Given the description of an element on the screen output the (x, y) to click on. 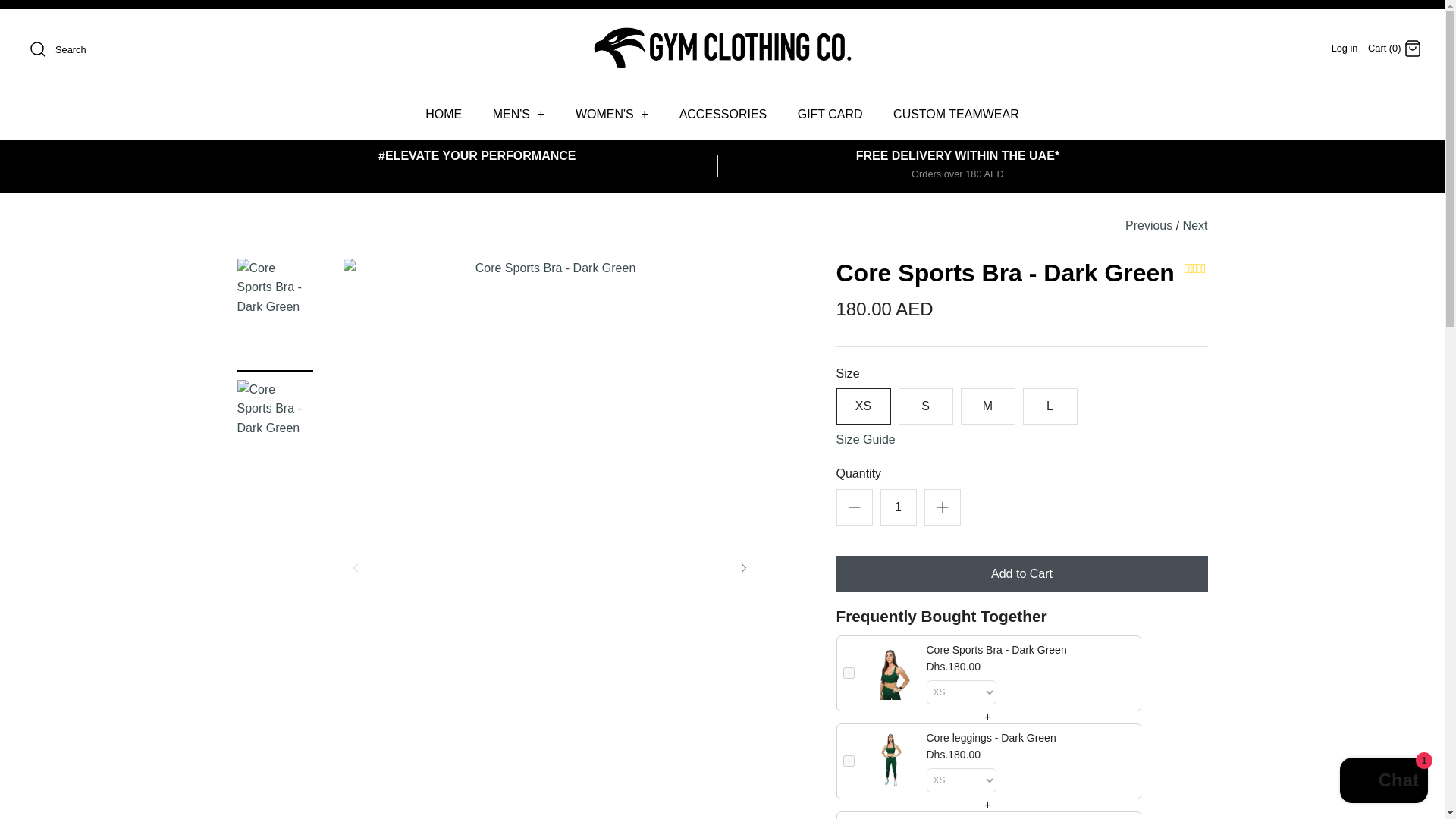
Previous (1148, 225)
on (848, 760)
GIFT CARD (830, 113)
CUSTOM TEAMWEAR (955, 113)
Right (743, 567)
Log in (1345, 48)
1 (897, 506)
Next (1195, 225)
Right (742, 567)
Cart (1412, 48)
ACCESSORIES (722, 113)
Gym Clothing Co  (722, 33)
Left (354, 567)
Add to Cart (1021, 574)
Left (354, 567)
